Given the description of an element on the screen output the (x, y) to click on. 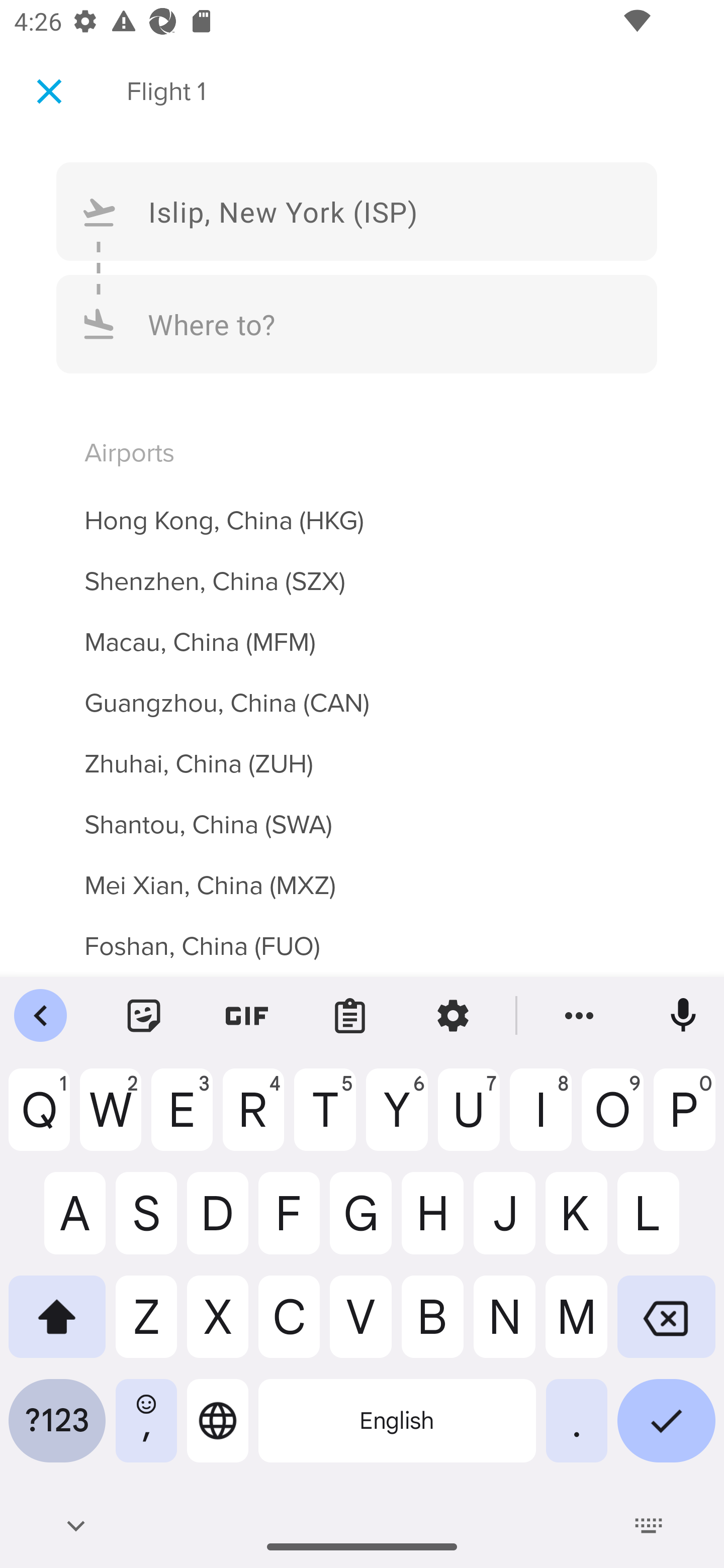
Cancel (49, 90)
Islip, New York (ISP) (356, 211)
Where to? (356, 323)
Hong Kong, China (HKG) (361, 508)
Shenzhen, China (SZX) (361, 569)
Macau, China (MFM) (361, 630)
Guangzhou, China (CAN) (361, 691)
Zhuhai, China (ZUH) (361, 752)
Shantou, China (SWA) (361, 812)
Mei Xian, China (MXZ) (361, 873)
Foshan, China (FUO) (361, 940)
